Given the description of an element on the screen output the (x, y) to click on. 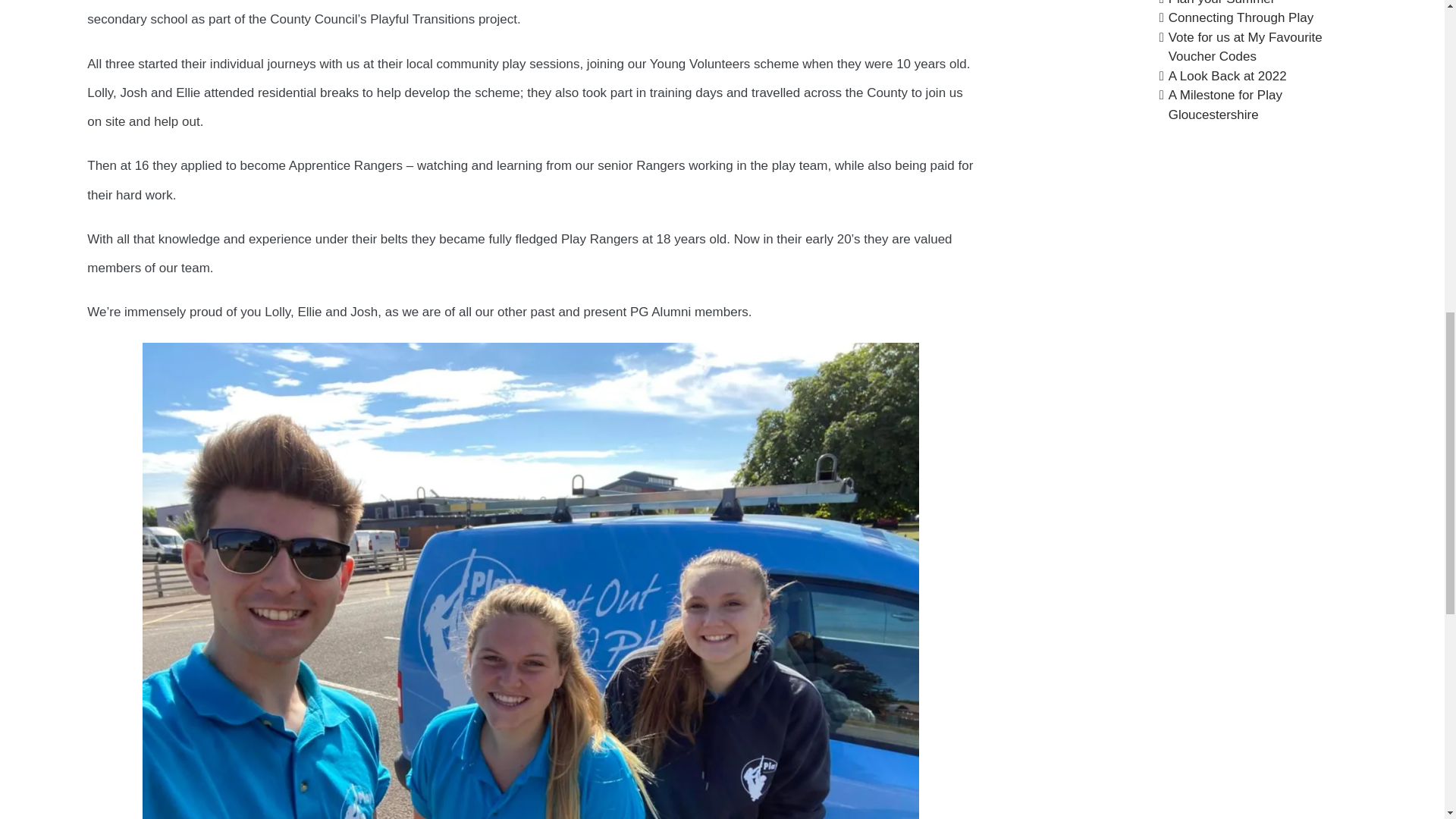
Plan your Summer (1222, 2)
